Given the description of an element on the screen output the (x, y) to click on. 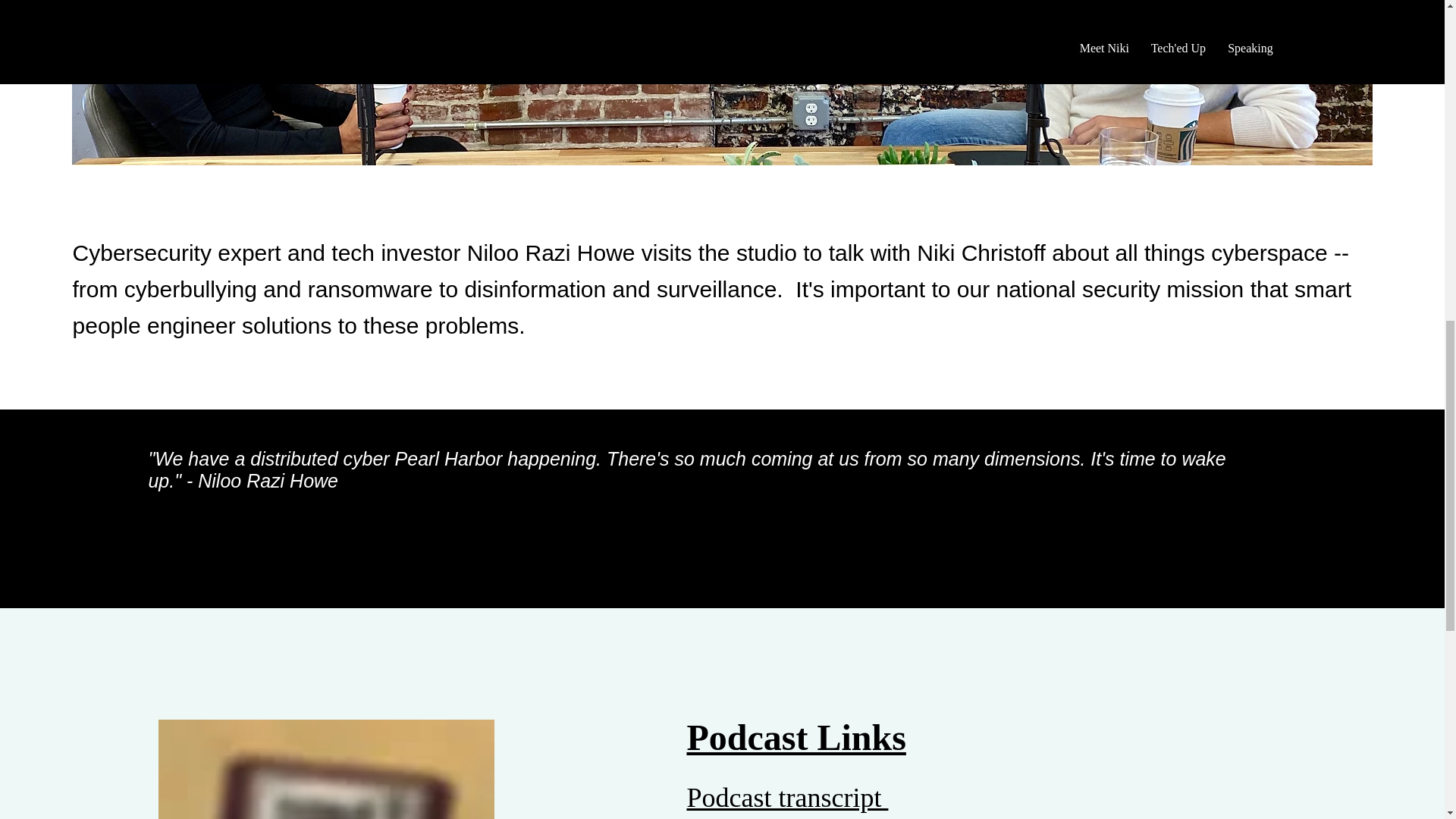
Podcast transcript  (786, 797)
Podcast on Buzzsprout (810, 816)
